Given the description of an element on the screen output the (x, y) to click on. 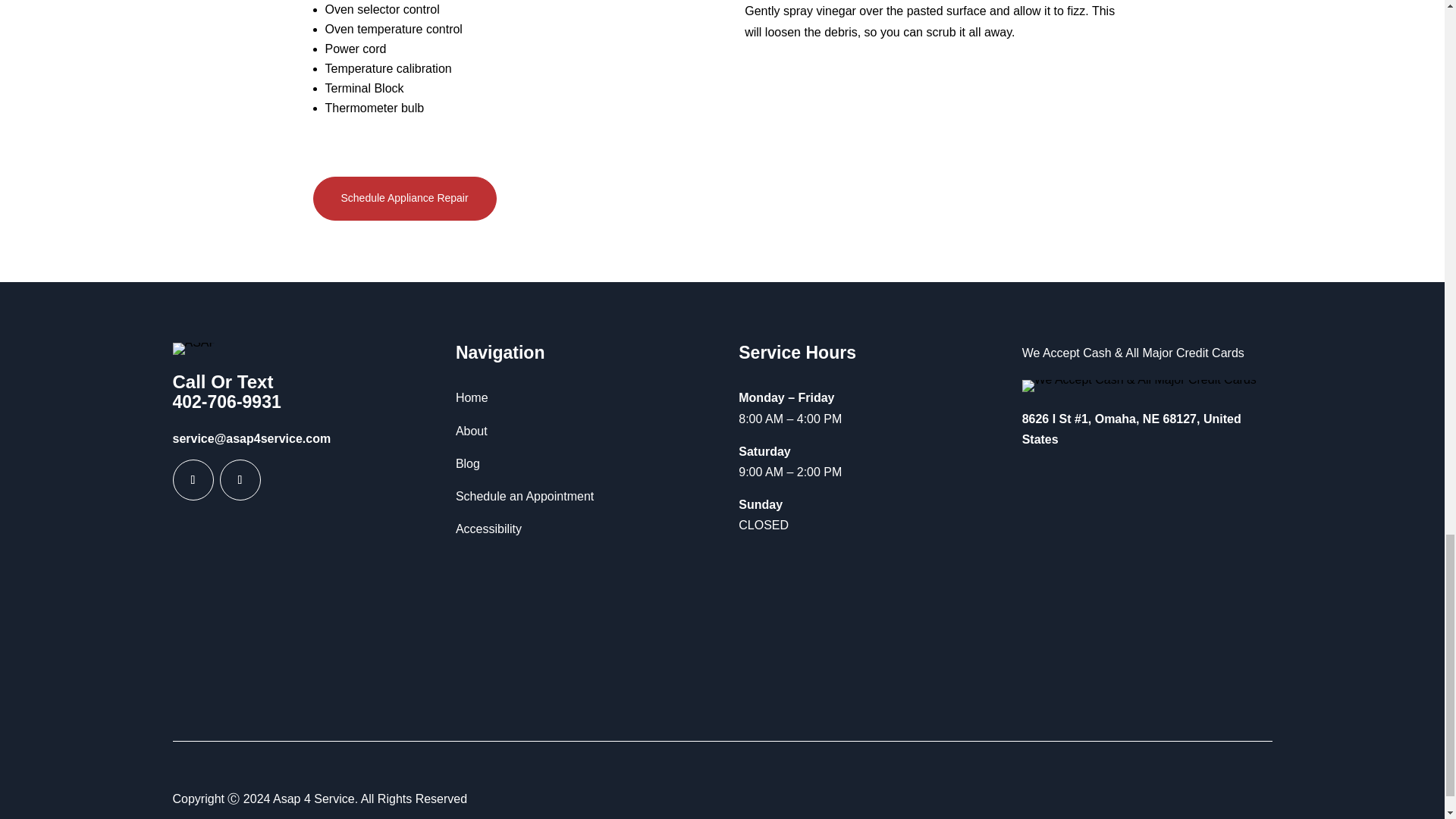
ASAP-white text (194, 348)
Follow on X (239, 479)
Follow on Facebook (193, 479)
Major Credit Cards (1139, 386)
